Given the description of an element on the screen output the (x, y) to click on. 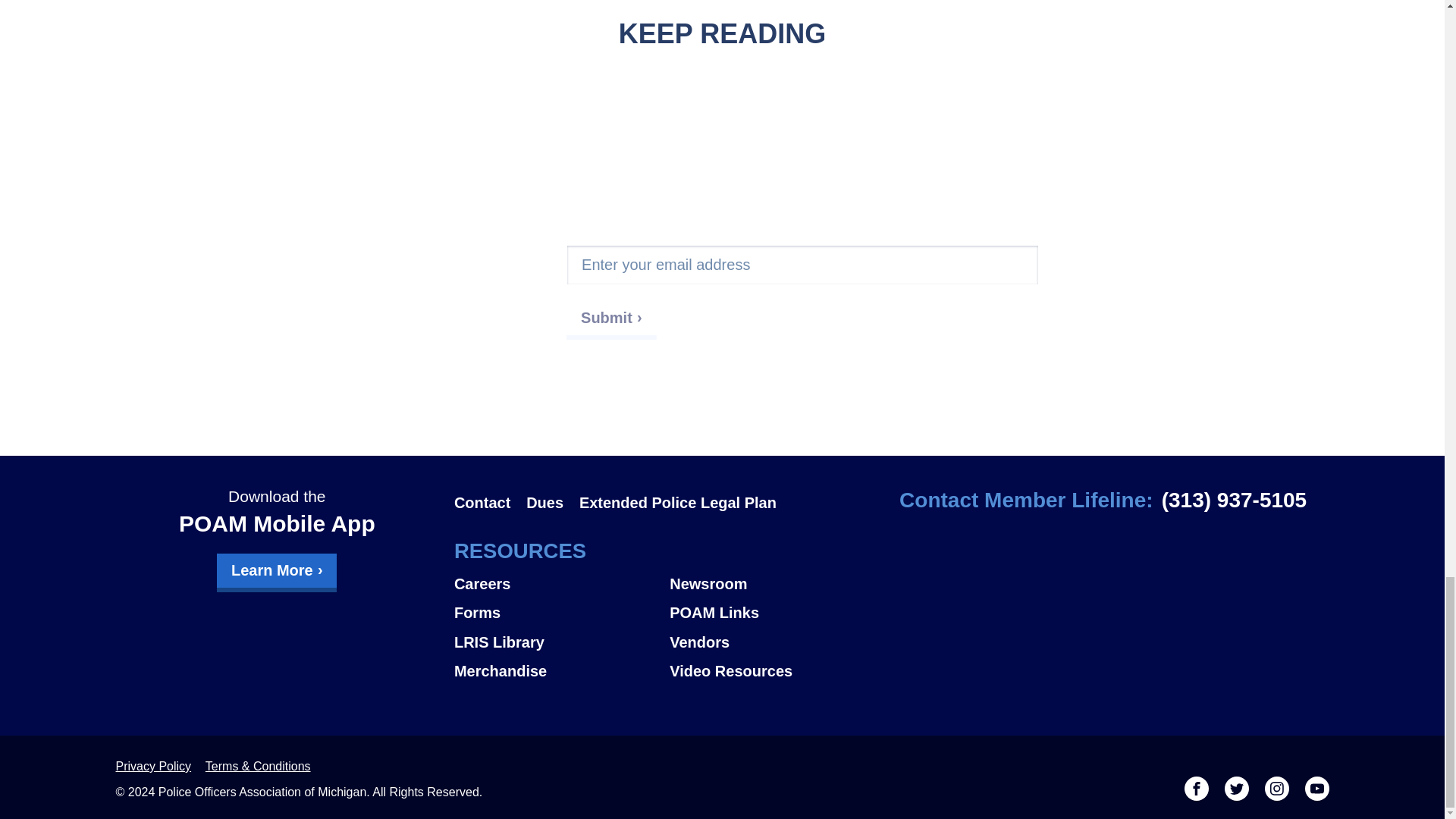
POAM Links (713, 612)
Merchandise (500, 670)
Extended Police Legal Plan (677, 502)
LRIS Library (499, 641)
Vendors (699, 641)
Dues (544, 502)
Video Resources (730, 670)
Forms (477, 612)
Newsroom (707, 583)
Careers (482, 583)
